Given the description of an element on the screen output the (x, y) to click on. 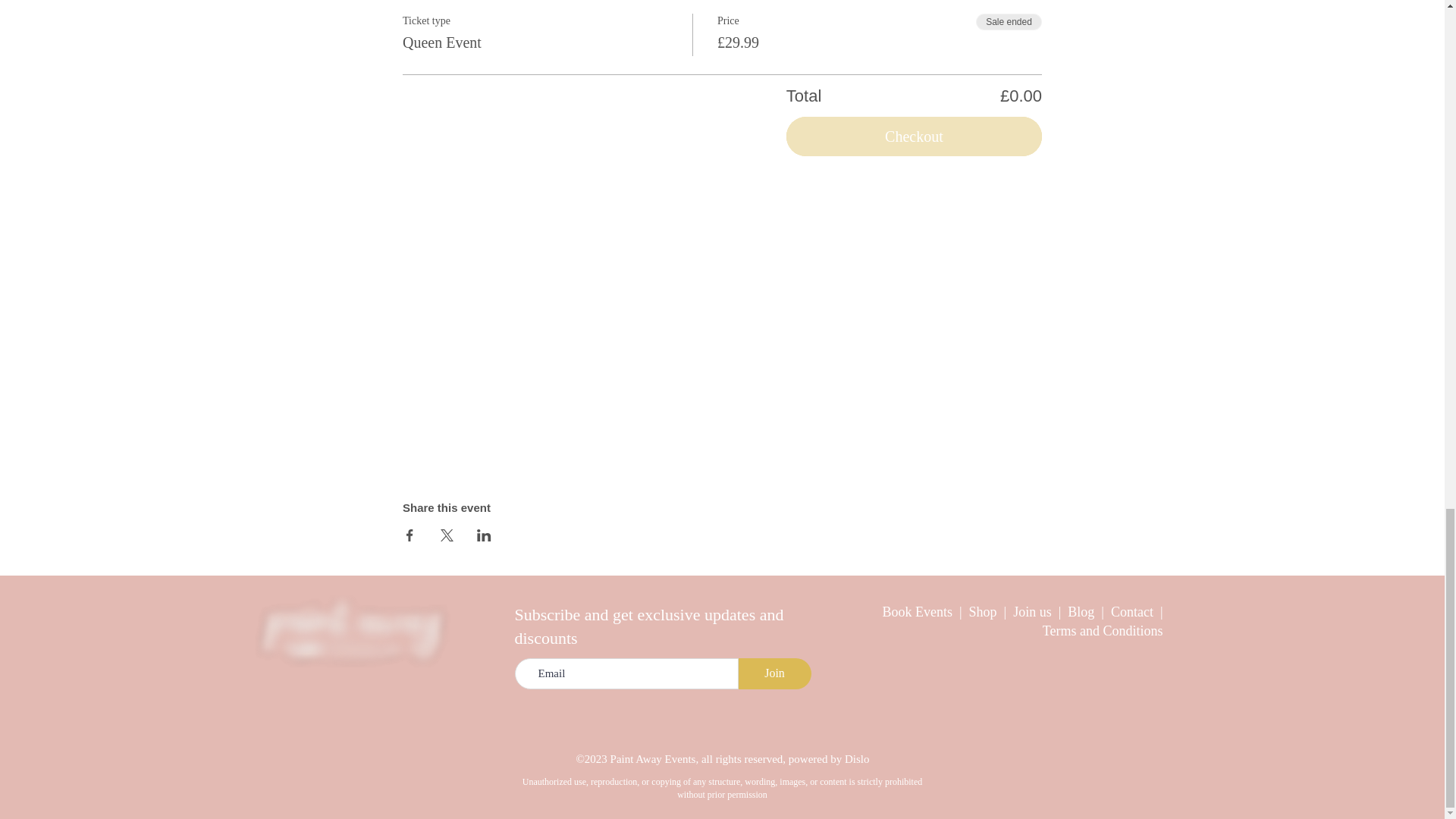
Terms and Conditions (1102, 630)
Dislo (856, 758)
Checkout (914, 136)
Book Events  (918, 611)
Join (774, 673)
Blog  (1083, 611)
Shop  (986, 611)
Join us (1032, 611)
